Given the description of an element on the screen output the (x, y) to click on. 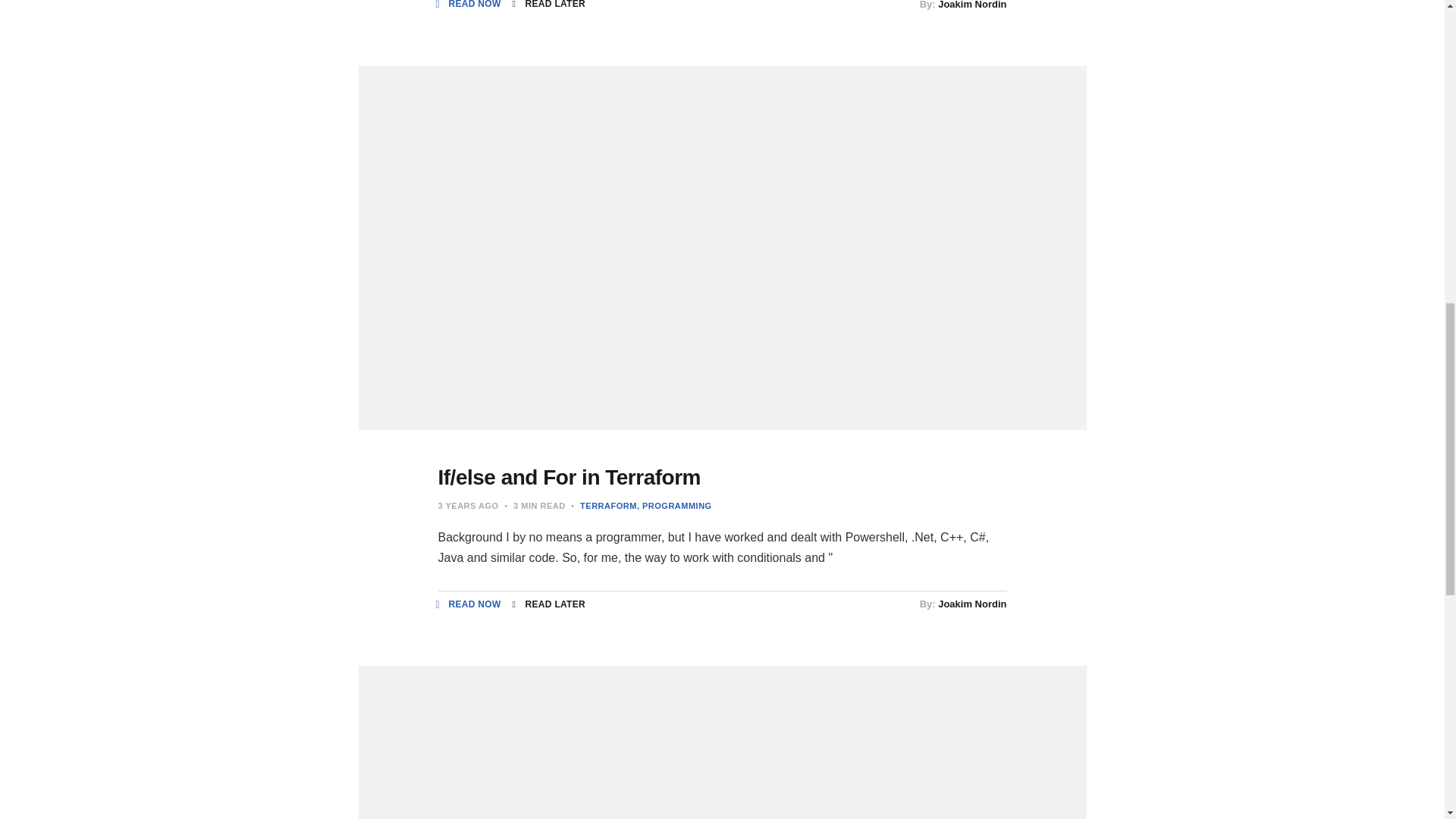
programming (674, 505)
READ NOW (469, 604)
READ LATER (548, 4)
PROGRAMMING (674, 505)
READ NOW (469, 4)
TERRAFORM (608, 505)
Joakim Nordin (971, 4)
terraform (608, 505)
Joakim Nordin (971, 603)
READ LATER (548, 604)
